Given the description of an element on the screen output the (x, y) to click on. 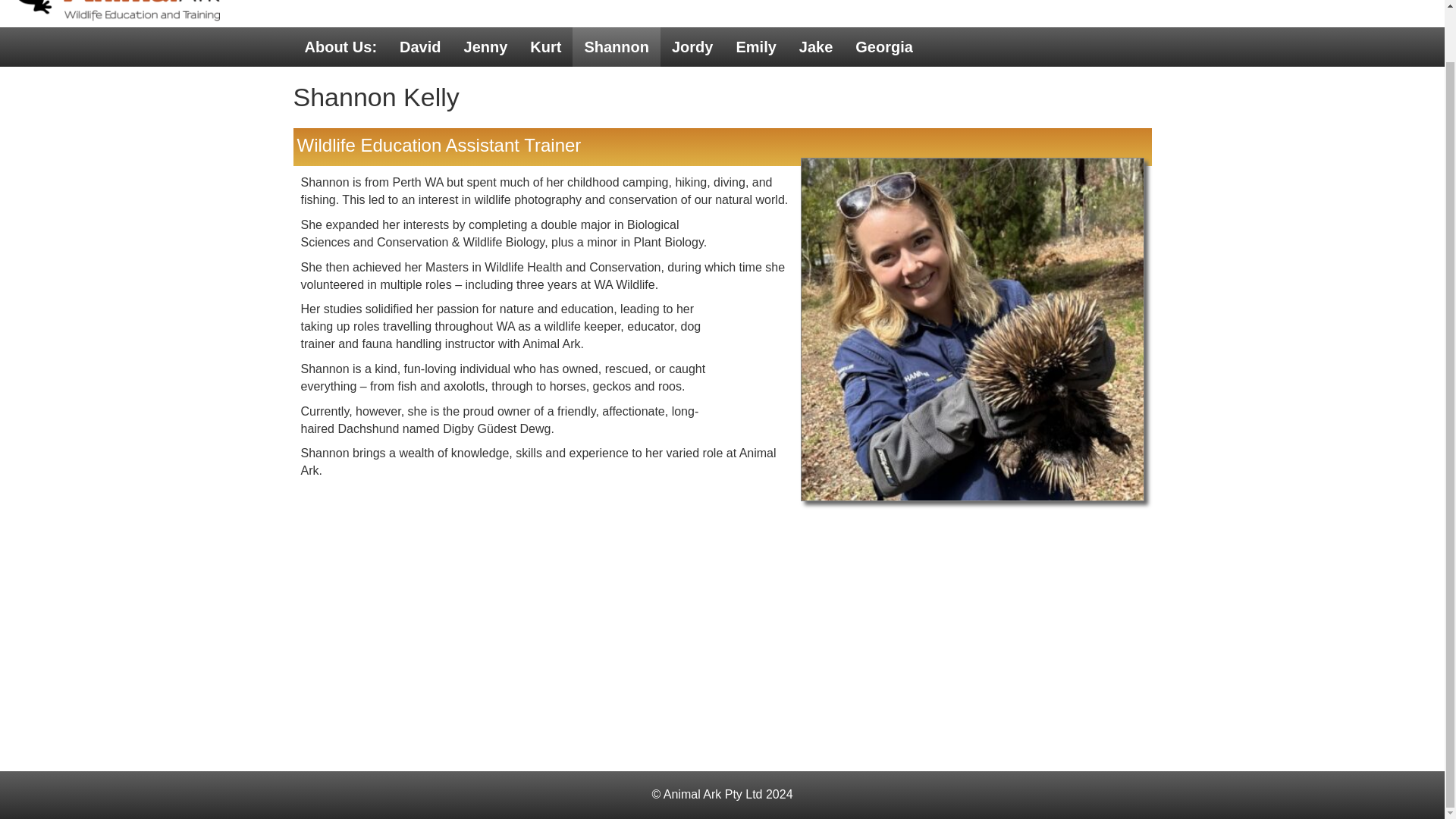
Emily (755, 46)
Jake (815, 46)
 08 9243 3044 (1347, 2)
Course Dates (981, 1)
News (807, 1)
Jordy (692, 46)
About Us (730, 1)
About Us: (340, 46)
Shannon (616, 46)
David (419, 46)
